Given the description of an element on the screen output the (x, y) to click on. 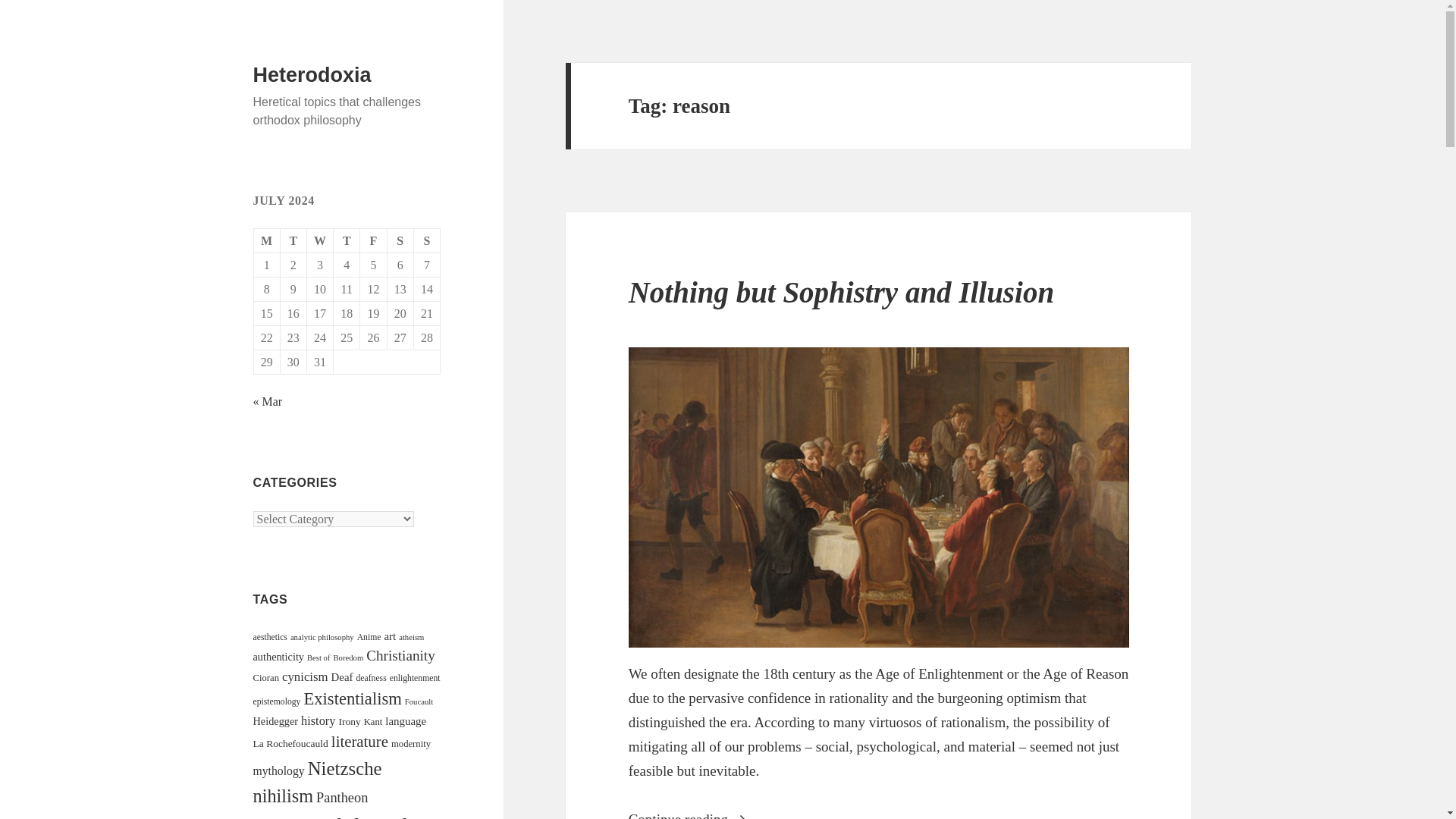
Boredom (348, 657)
enlightenment (415, 678)
history (317, 720)
literature (359, 741)
nihilism (283, 795)
Tuesday (294, 241)
modernity (410, 743)
Existentialism (351, 698)
Nietzsche (344, 768)
cynicism (304, 676)
Deaf (342, 676)
mythology (278, 770)
Christianity (400, 655)
language (405, 720)
Cioran (266, 677)
